Given the description of an element on the screen output the (x, y) to click on. 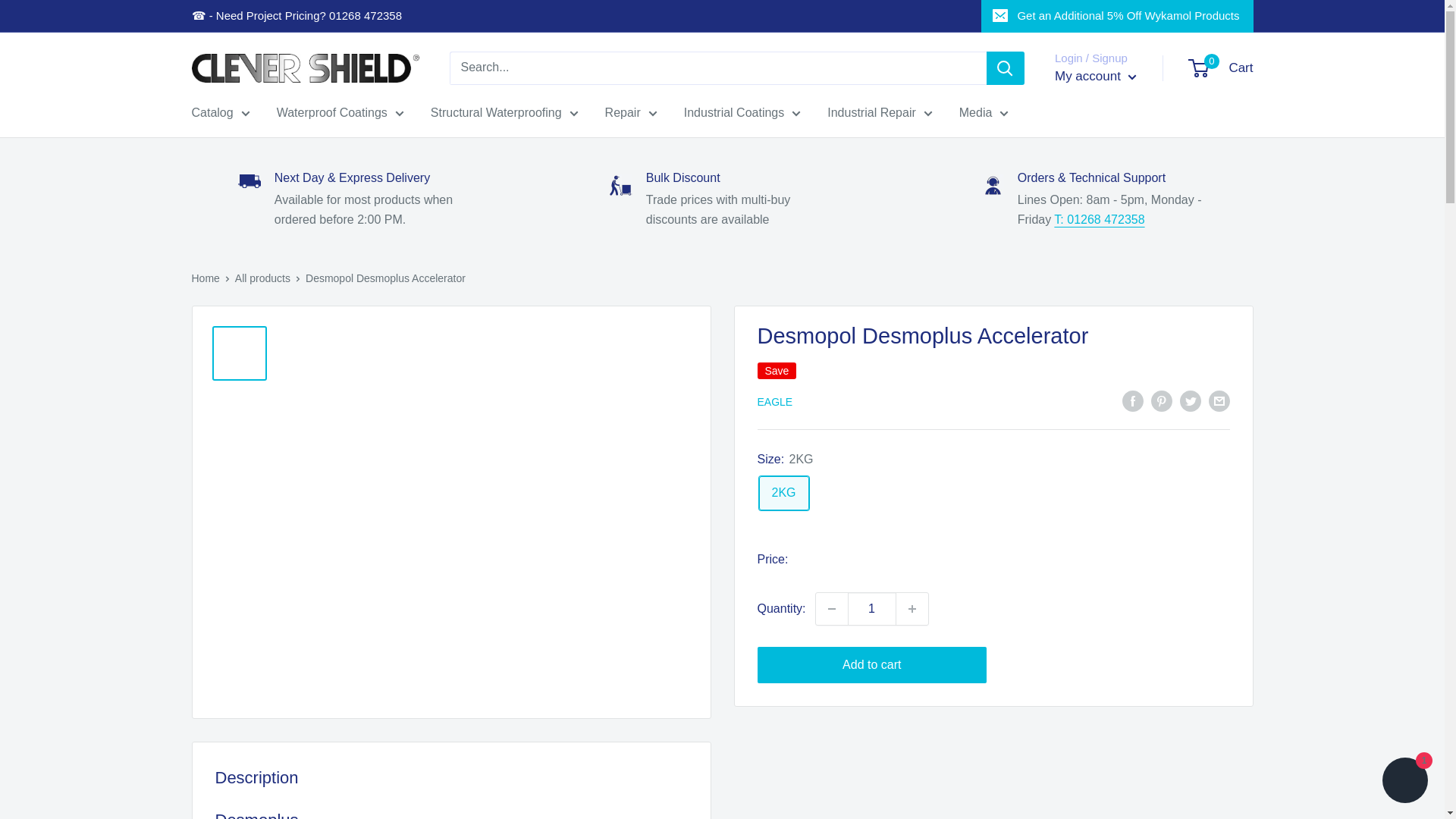
Increase quantity by 1 (912, 608)
tel:01268472358 (1099, 219)
2KG (783, 492)
Decrease quantity by 1 (831, 608)
1 (871, 608)
